Given the description of an element on the screen output the (x, y) to click on. 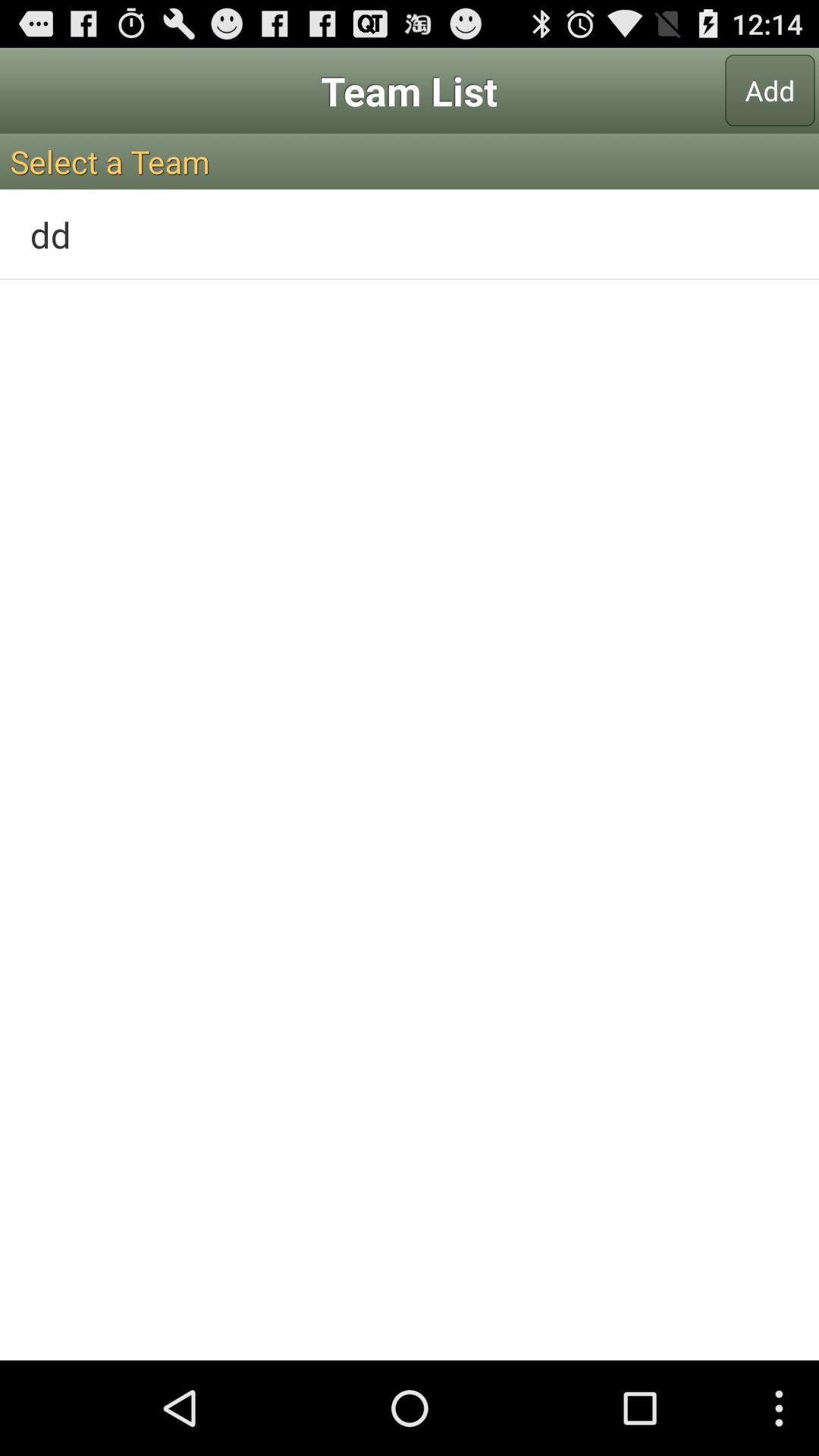
turn off the select a team icon (409, 161)
